Given the description of an element on the screen output the (x, y) to click on. 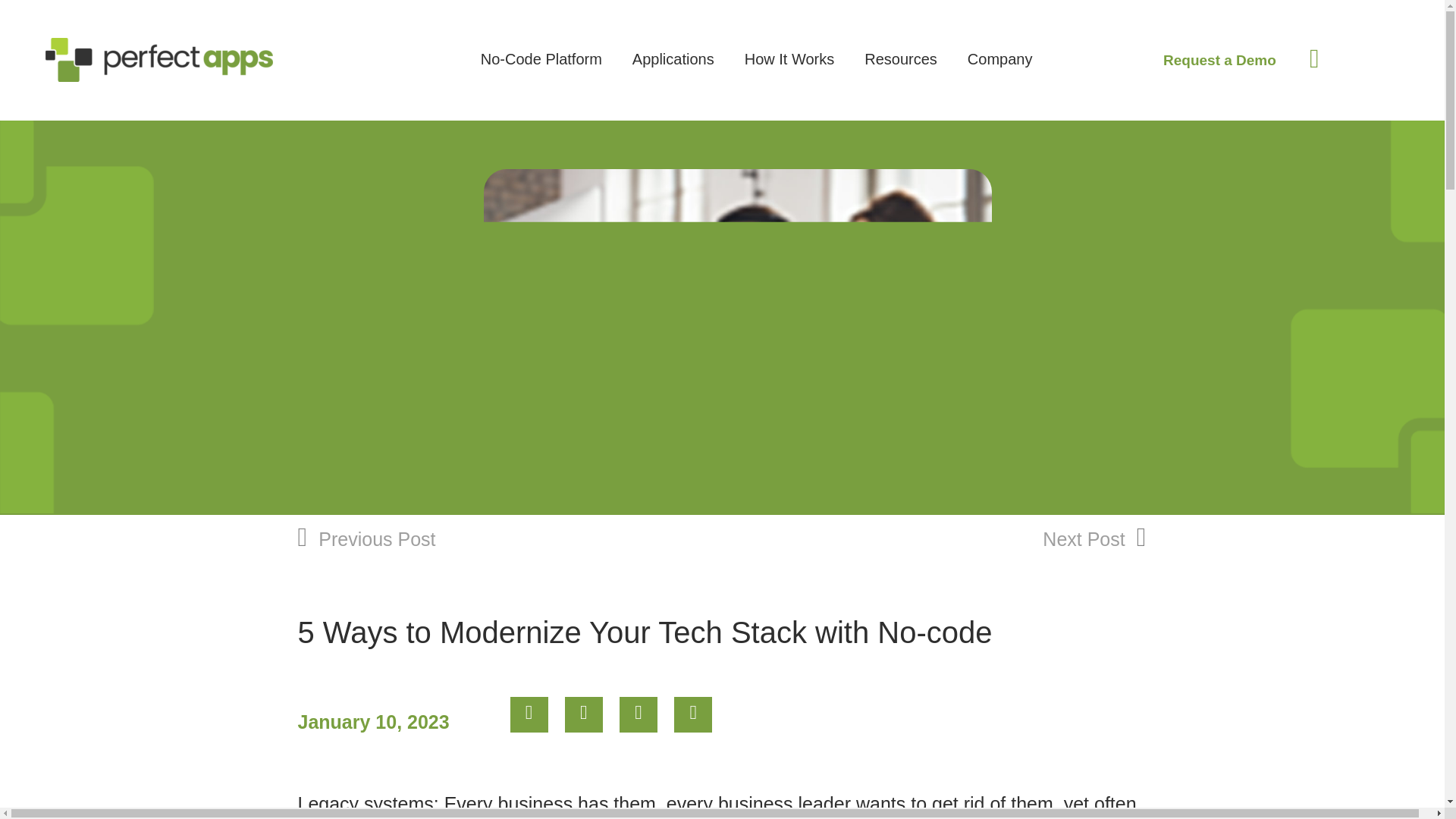
How It Works (789, 72)
Company (1000, 72)
No-Code Platform (541, 72)
Resources (900, 72)
Applications (672, 72)
